Given the description of an element on the screen output the (x, y) to click on. 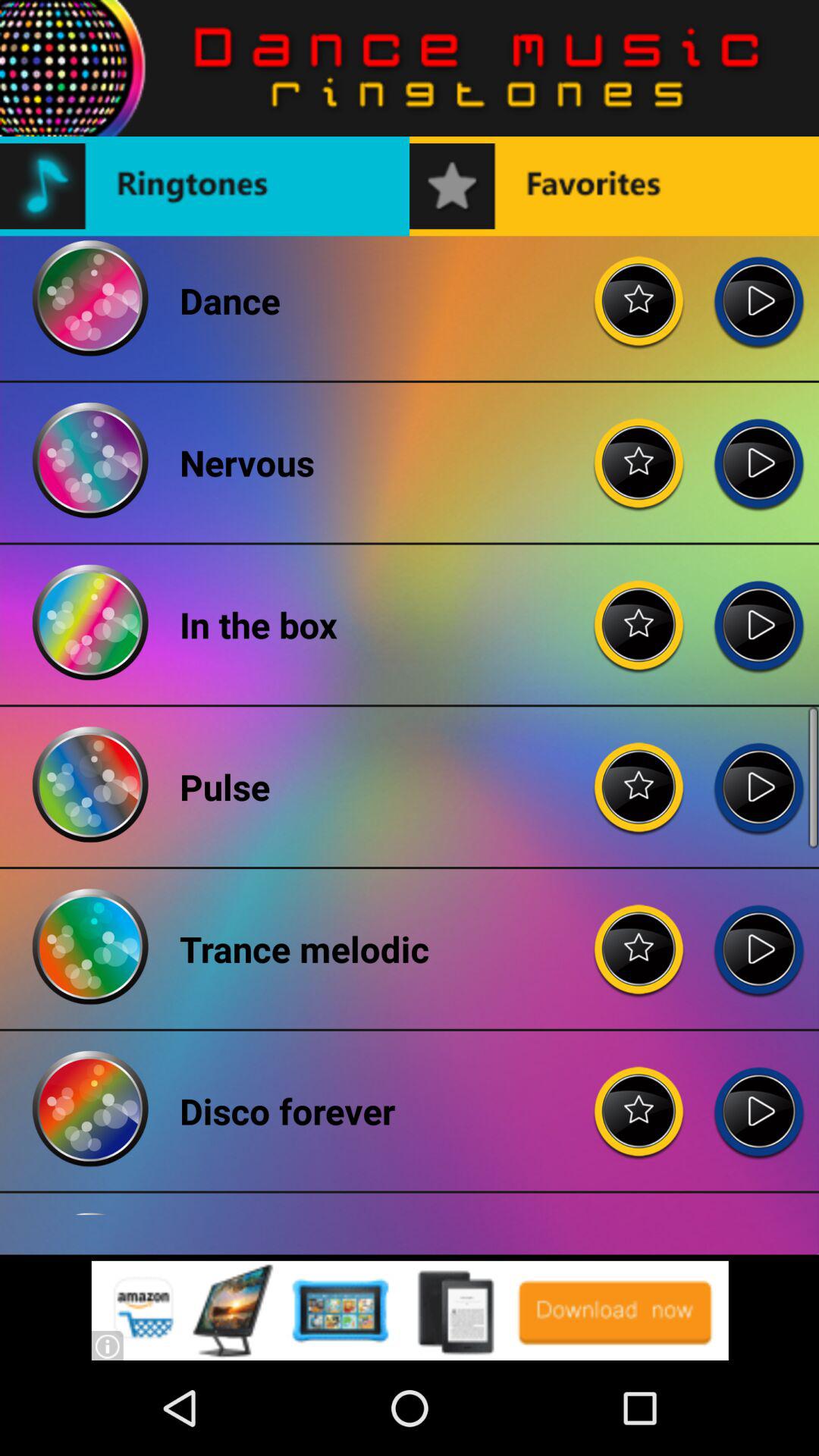
play in the box (758, 613)
